Given the description of an element on the screen output the (x, y) to click on. 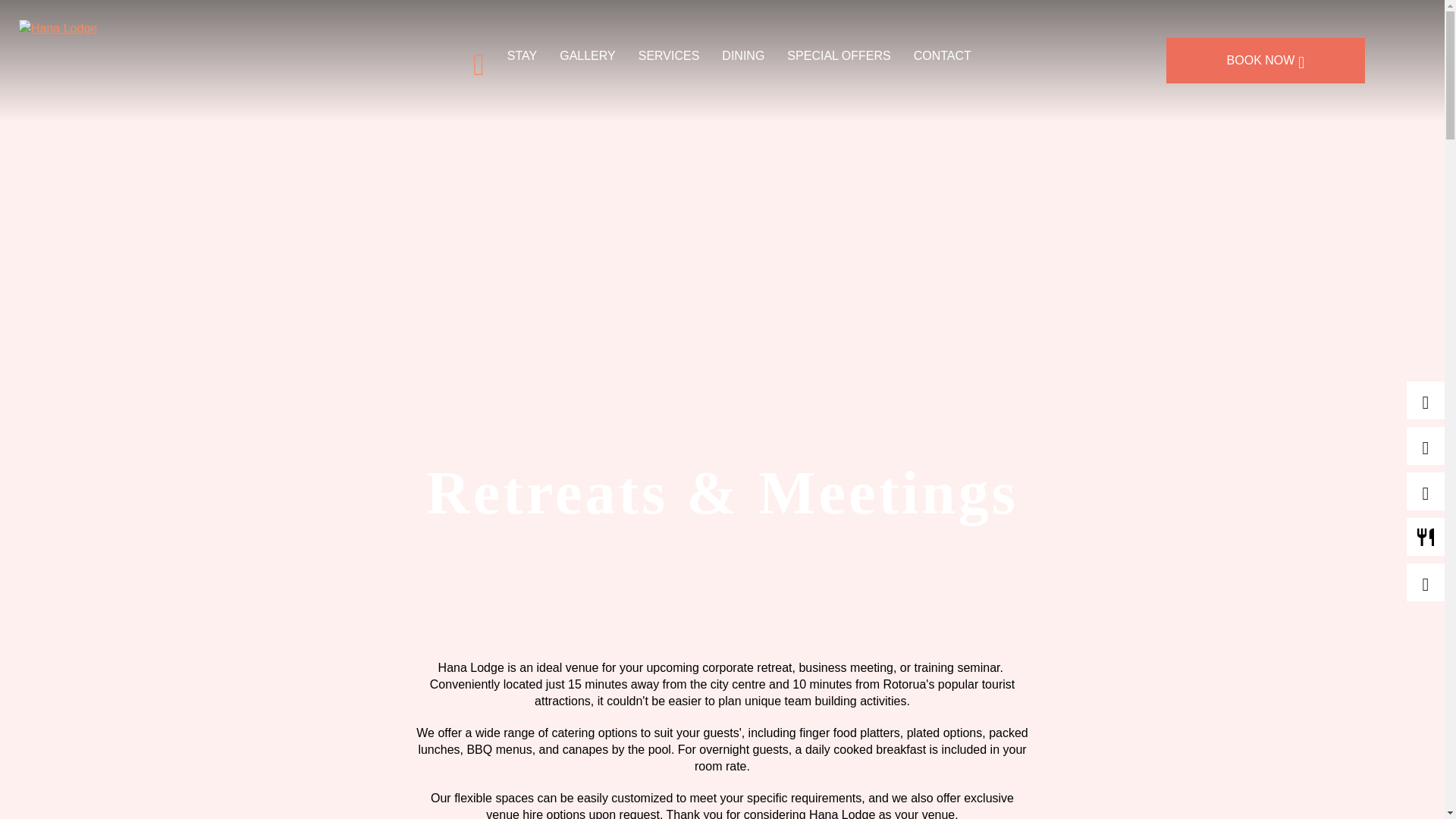
CONTACT (942, 55)
SERVICES (669, 55)
GALLERY (587, 55)
DINING (743, 55)
SPECIAL OFFERS (838, 55)
STAY (521, 55)
